Given the description of an element on the screen output the (x, y) to click on. 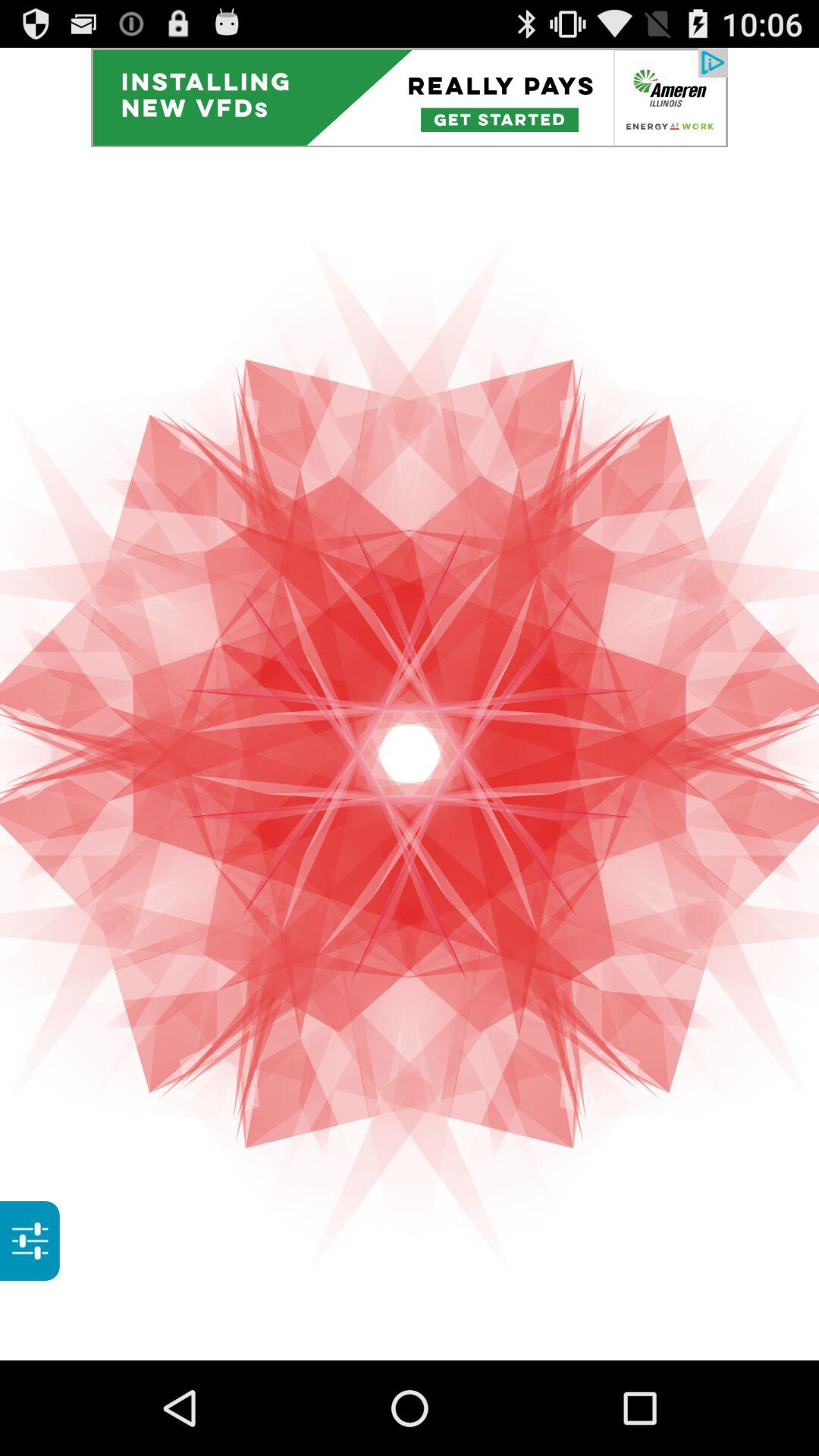
show options (29, 1240)
